Given the description of an element on the screen output the (x, y) to click on. 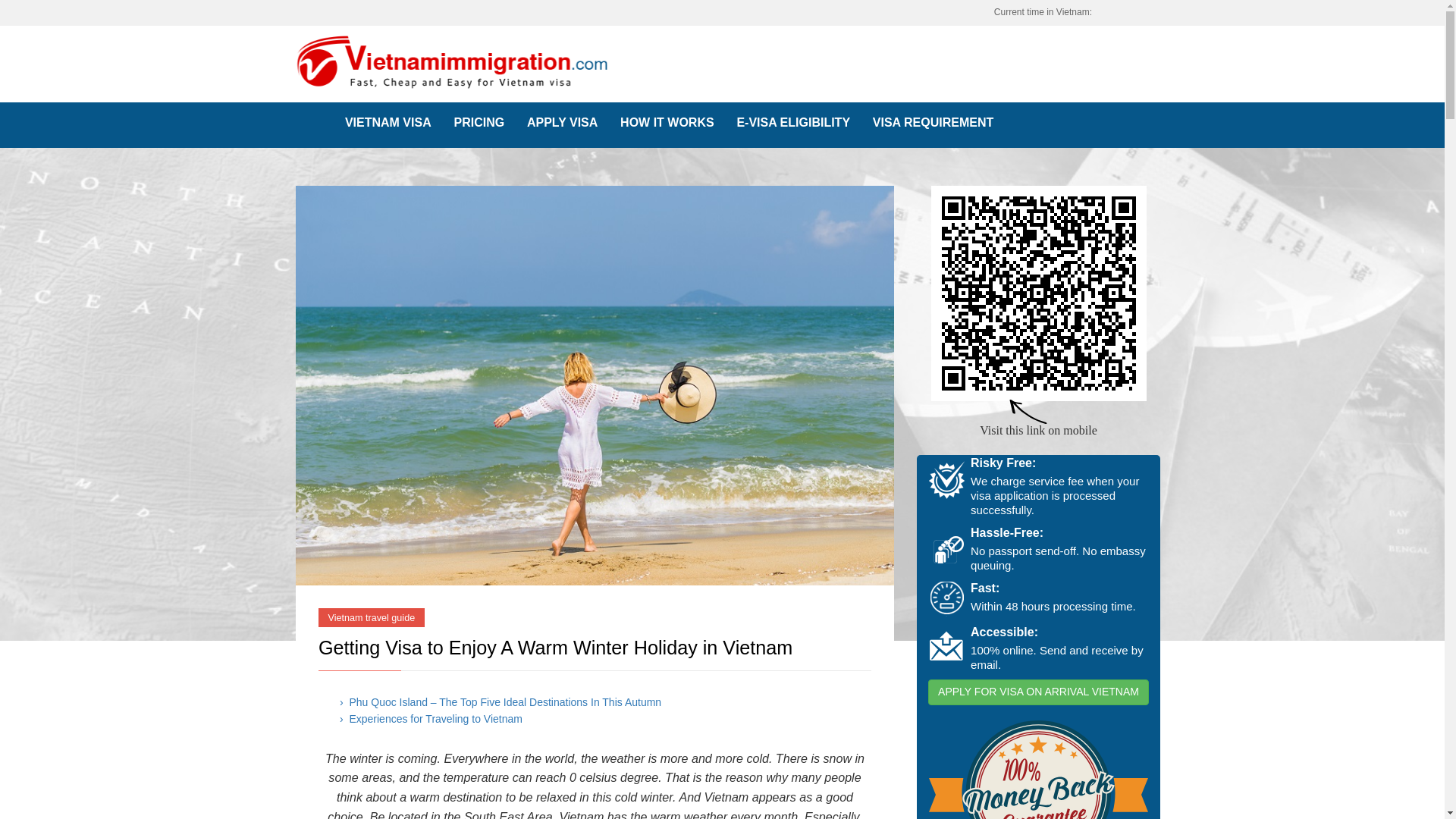
Vietnam visa fee (478, 123)
PRICING (478, 123)
APPLY VISA (561, 123)
HOW IT WORKS (666, 123)
Vietnam travel guide (371, 617)
VIETNAM VISA (387, 123)
E-VISA ELIGIBILITY (793, 123)
Apply Vietnam visa (561, 123)
VISA REQUIREMENT (932, 123)
